Given the description of an element on the screen output the (x, y) to click on. 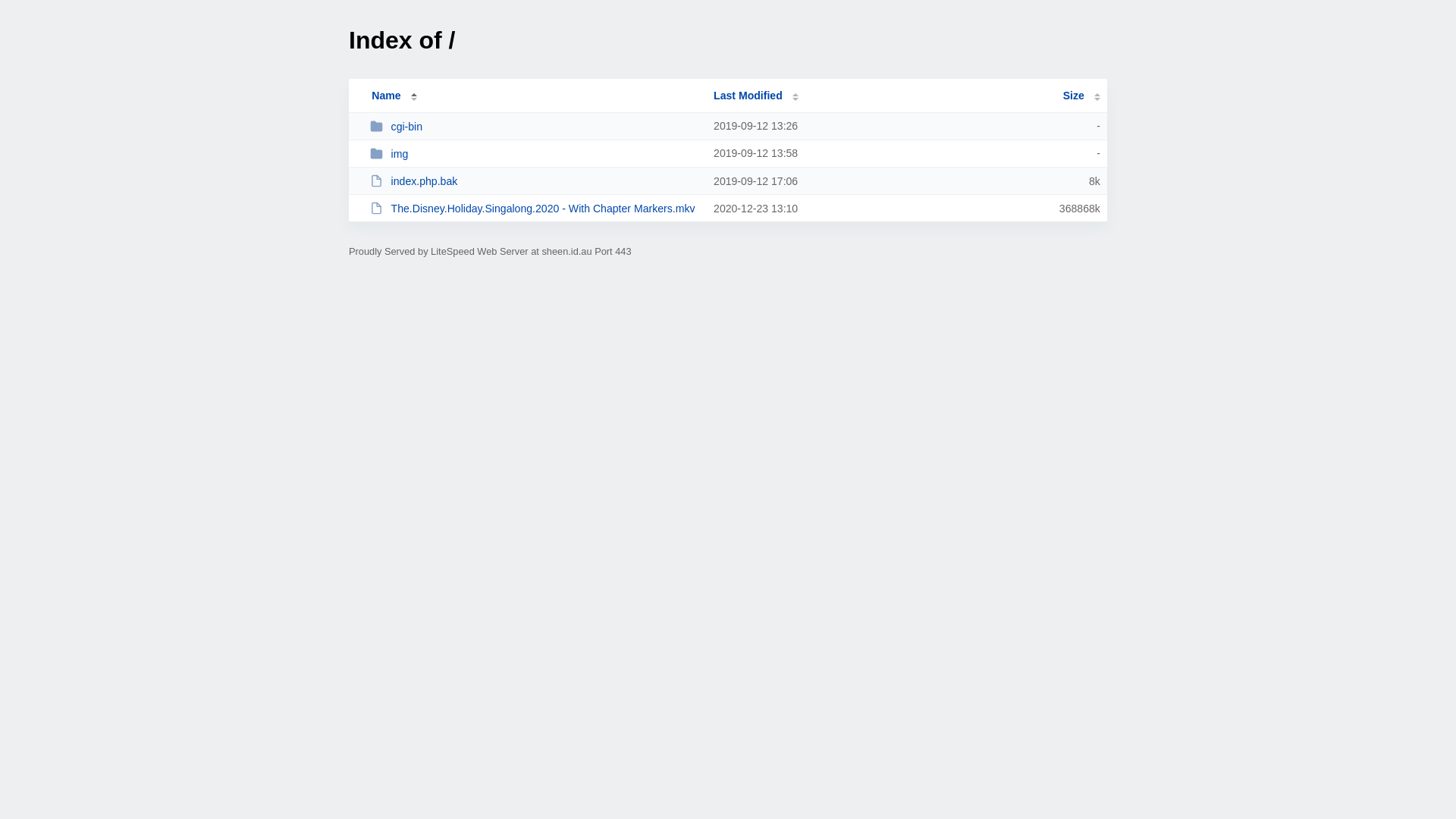
img Element type: text (534, 153)
Last Modified Element type: text (755, 95)
Size Element type: text (1081, 95)
The.Disney.Holiday.Singalong.2020 - With Chapter Markers.mkv Element type: text (534, 207)
Name Element type: text (385, 95)
index.php.bak Element type: text (534, 180)
cgi-bin Element type: text (534, 125)
